Given the description of an element on the screen output the (x, y) to click on. 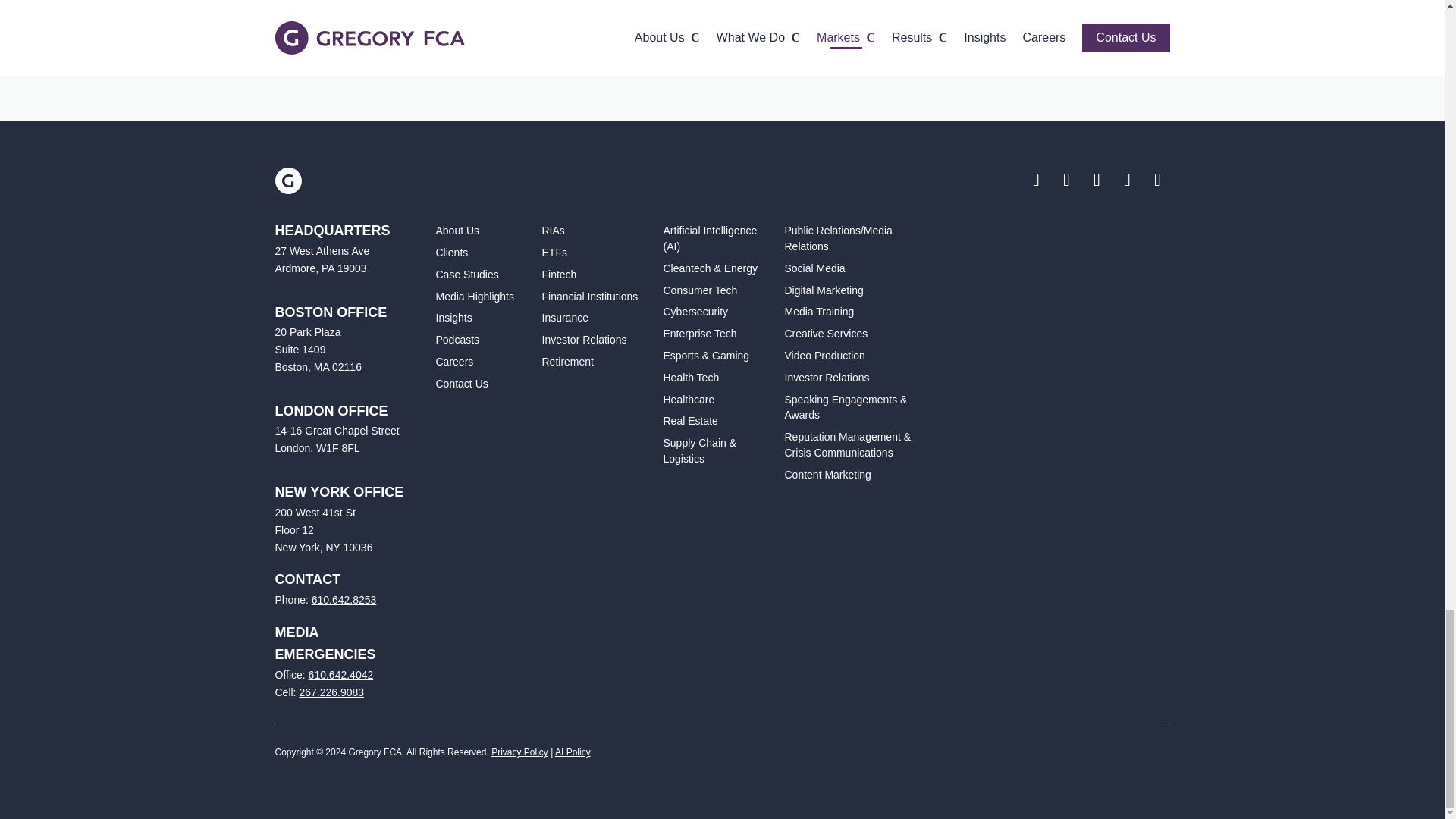
Follow on X (1066, 179)
Follow on Facebook (1035, 179)
Follow on Youtube (1096, 179)
Follow on Instagram (1156, 179)
Follow on LinkedIn (1126, 179)
